Given the description of an element on the screen output the (x, y) to click on. 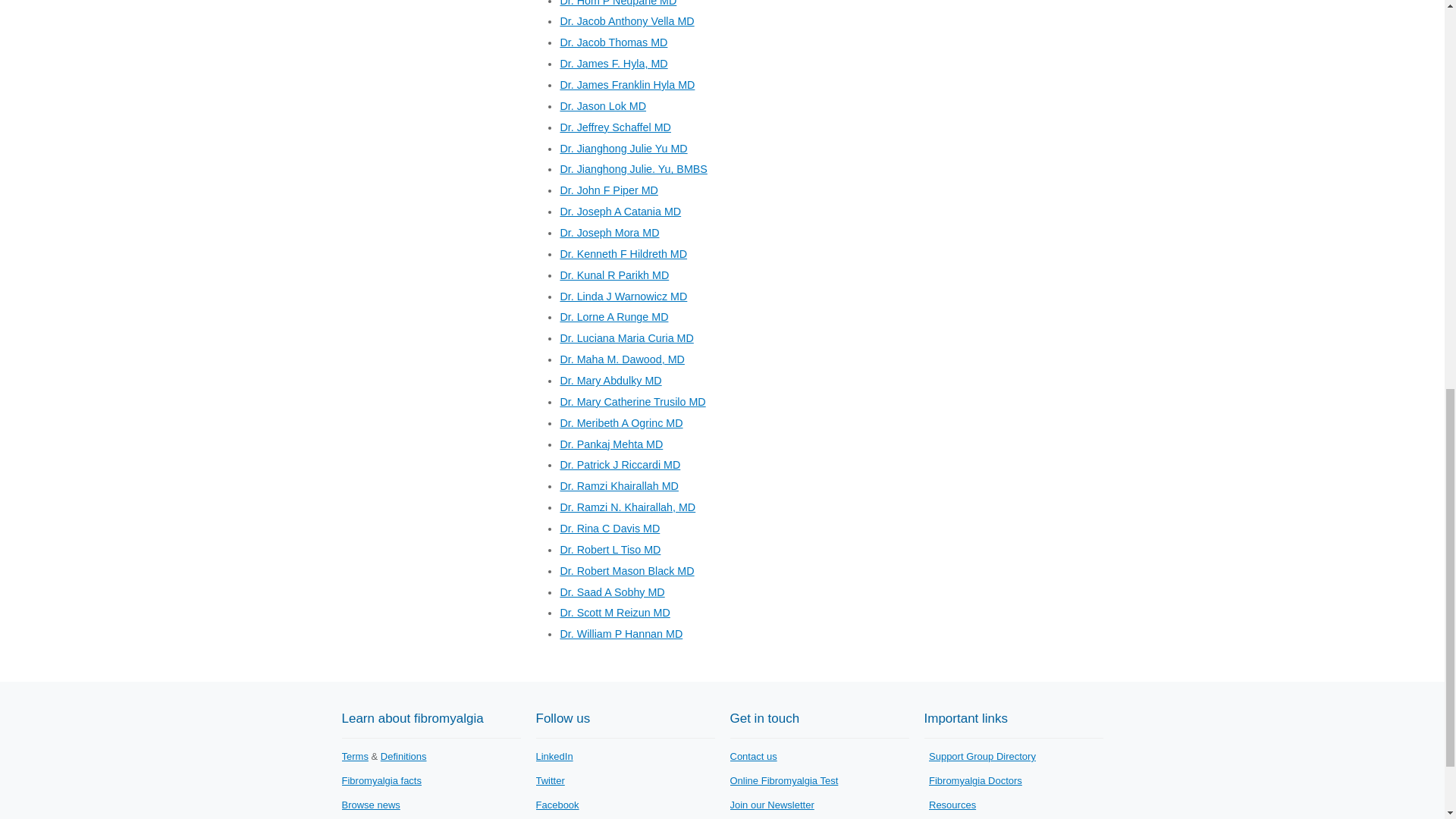
Term listing (354, 756)
Browse our news (369, 804)
Facts about Fibromyalgia (380, 780)
Definition listing (403, 756)
